Given the description of an element on the screen output the (x, y) to click on. 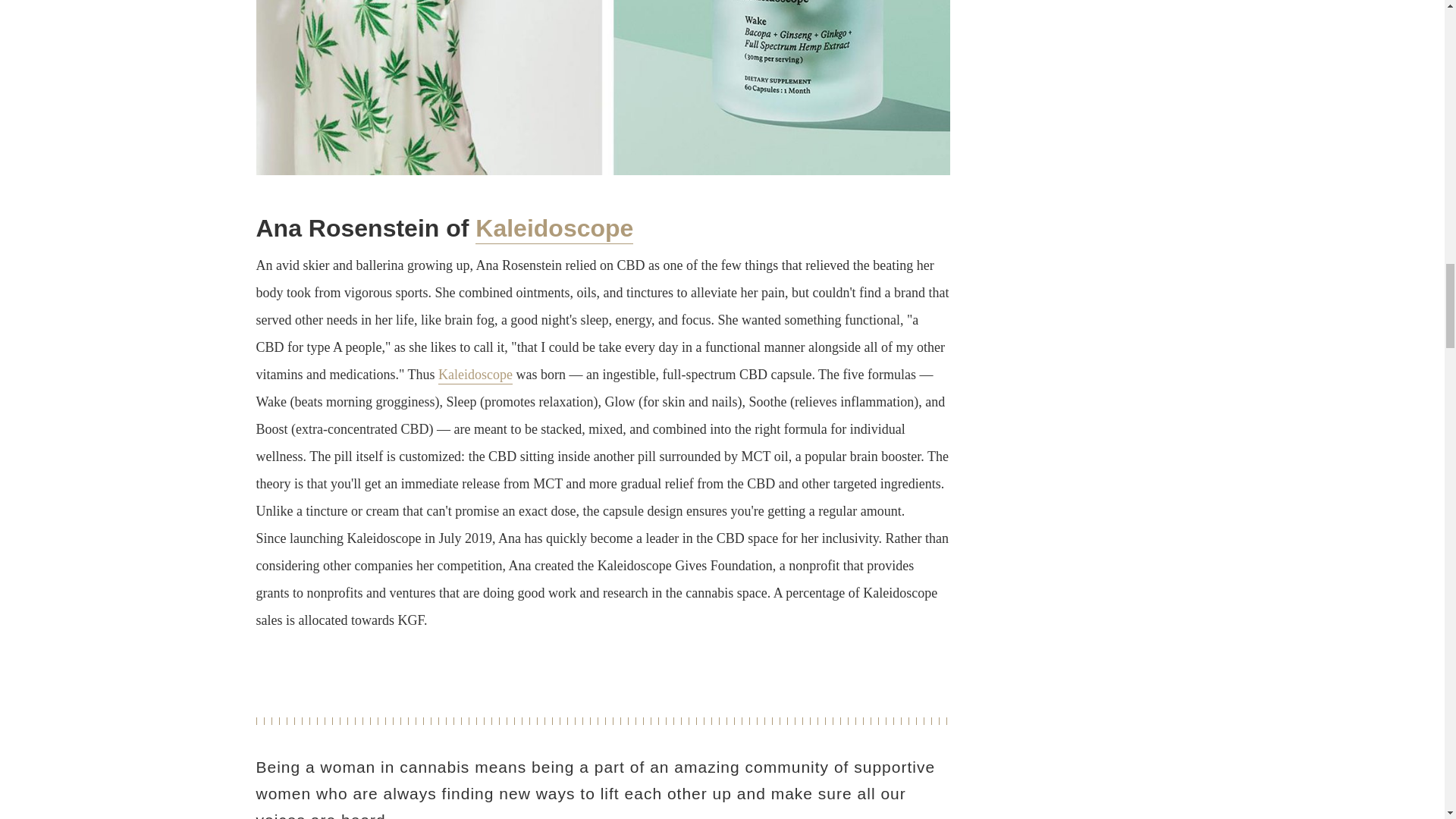
Kaleidoscope (554, 229)
Kaleidoscope (475, 375)
